Given the description of an element on the screen output the (x, y) to click on. 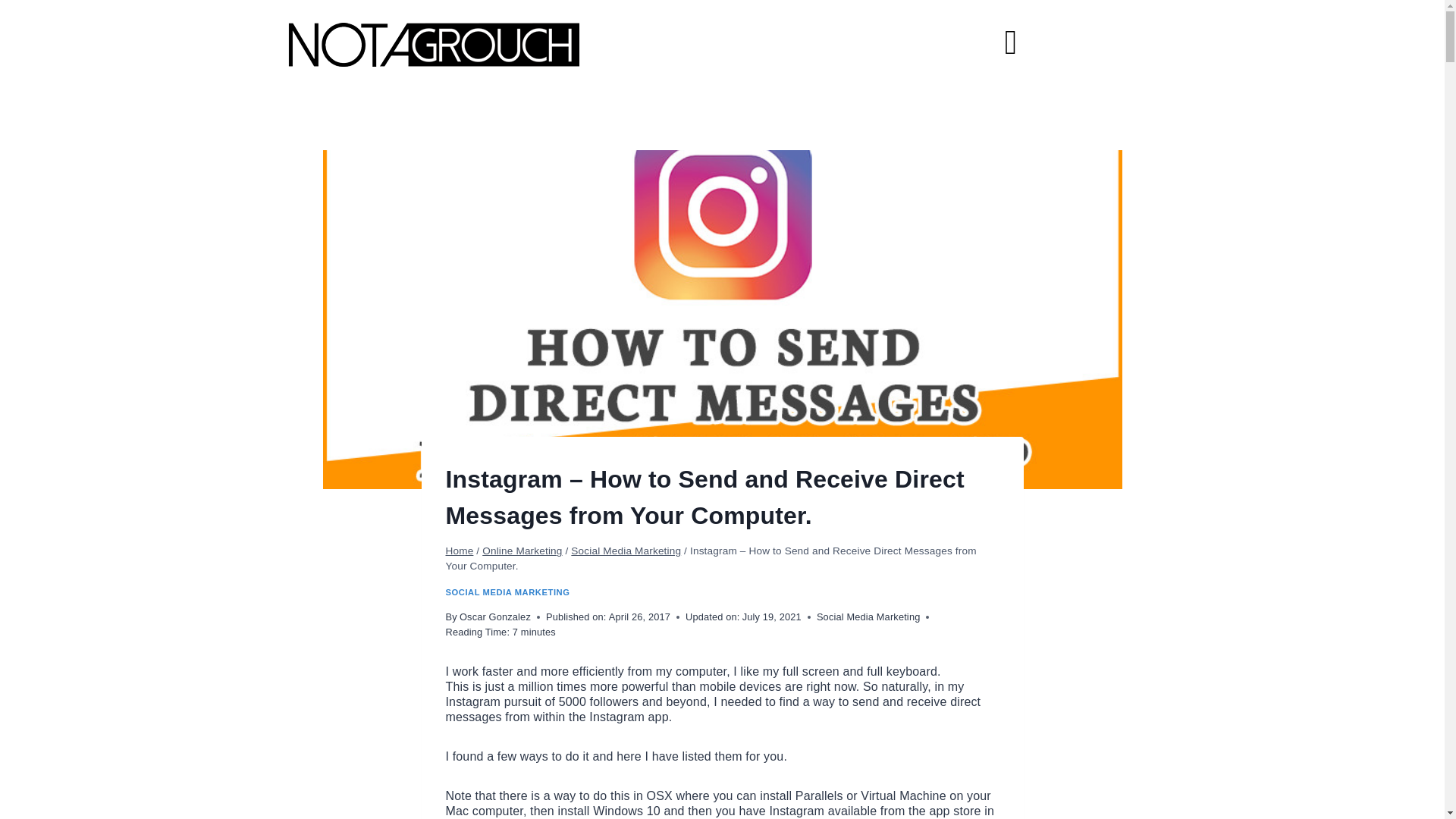
Social Media Marketing (625, 550)
Online Marketing (521, 550)
Social Media Marketing (868, 616)
SOCIAL MEDIA MARKETING (507, 592)
Home (459, 550)
